Given the description of an element on the screen output the (x, y) to click on. 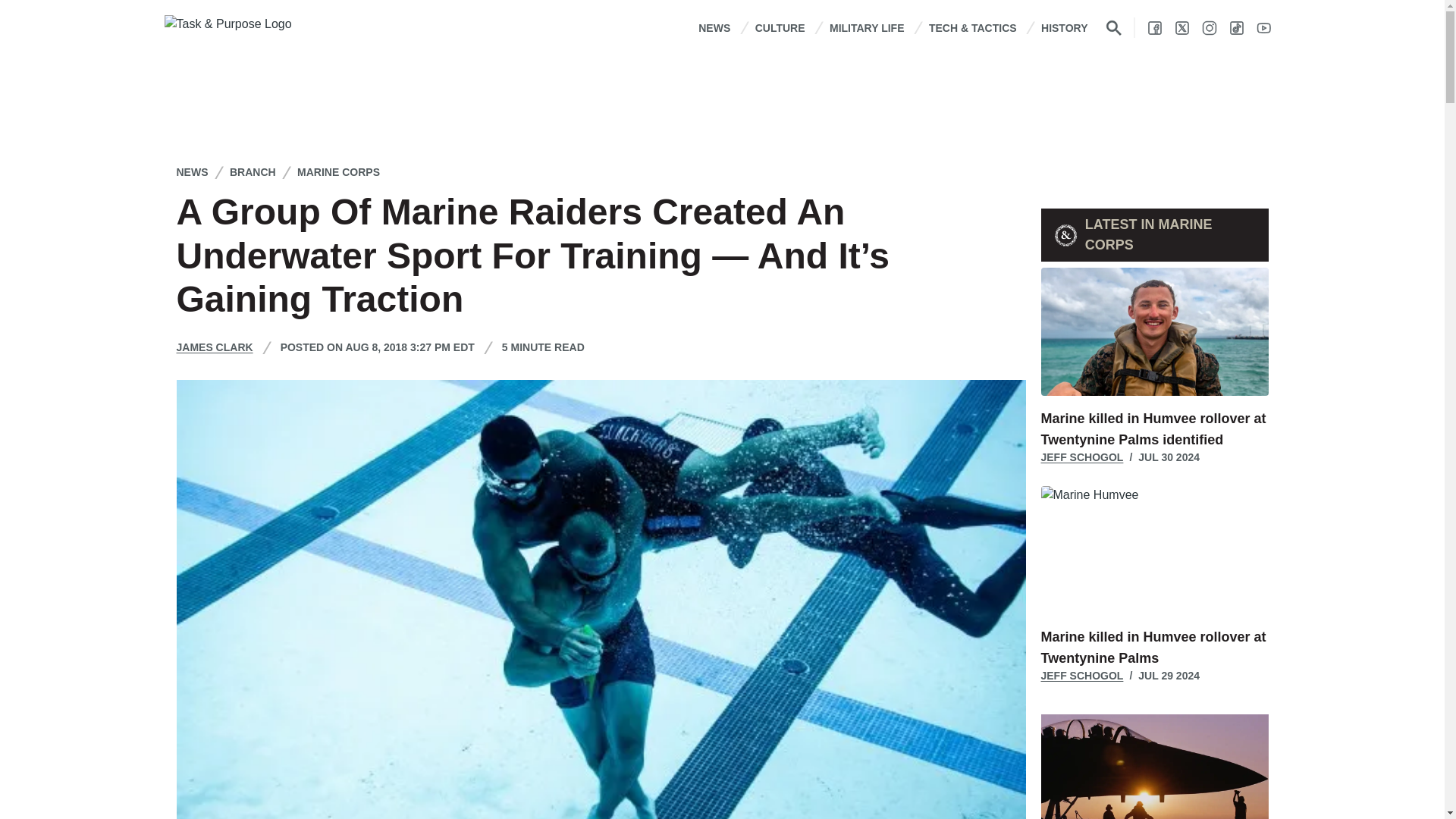
CULTURE (780, 27)
MILITARY LIFE (866, 27)
NEWS (714, 27)
